Given the description of an element on the screen output the (x, y) to click on. 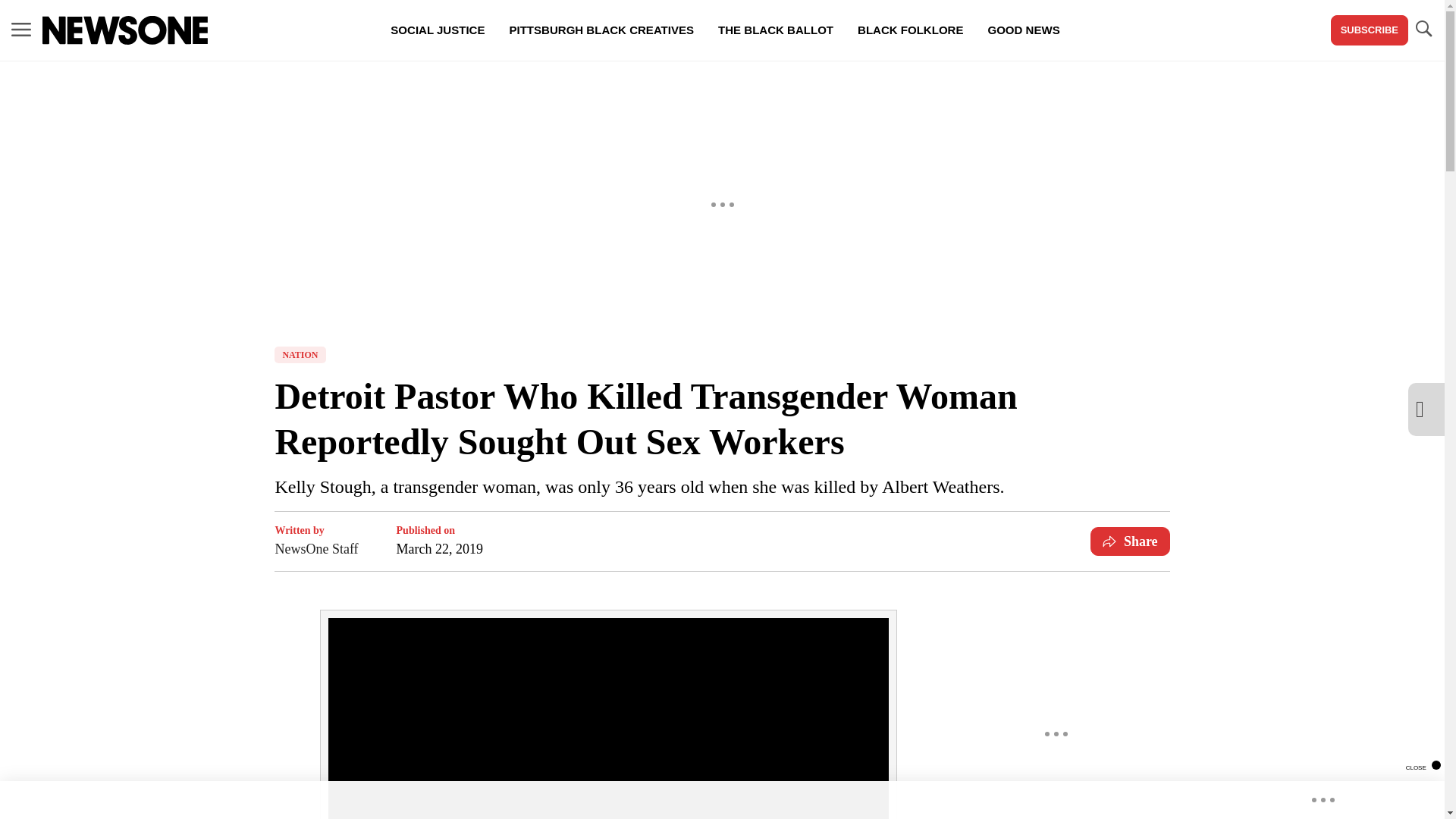
TOGGLE SEARCH (1422, 30)
Share (1130, 541)
SOCIAL JUSTICE (437, 30)
MENU (20, 30)
BLACK FOLKLORE (910, 30)
TOGGLE SEARCH (1422, 28)
SUBSCRIBE (1368, 30)
GOOD NEWS (1023, 30)
PITTSBURGH BLACK CREATIVES (601, 30)
NewsOne Staff (316, 548)
